Given the description of an element on the screen output the (x, y) to click on. 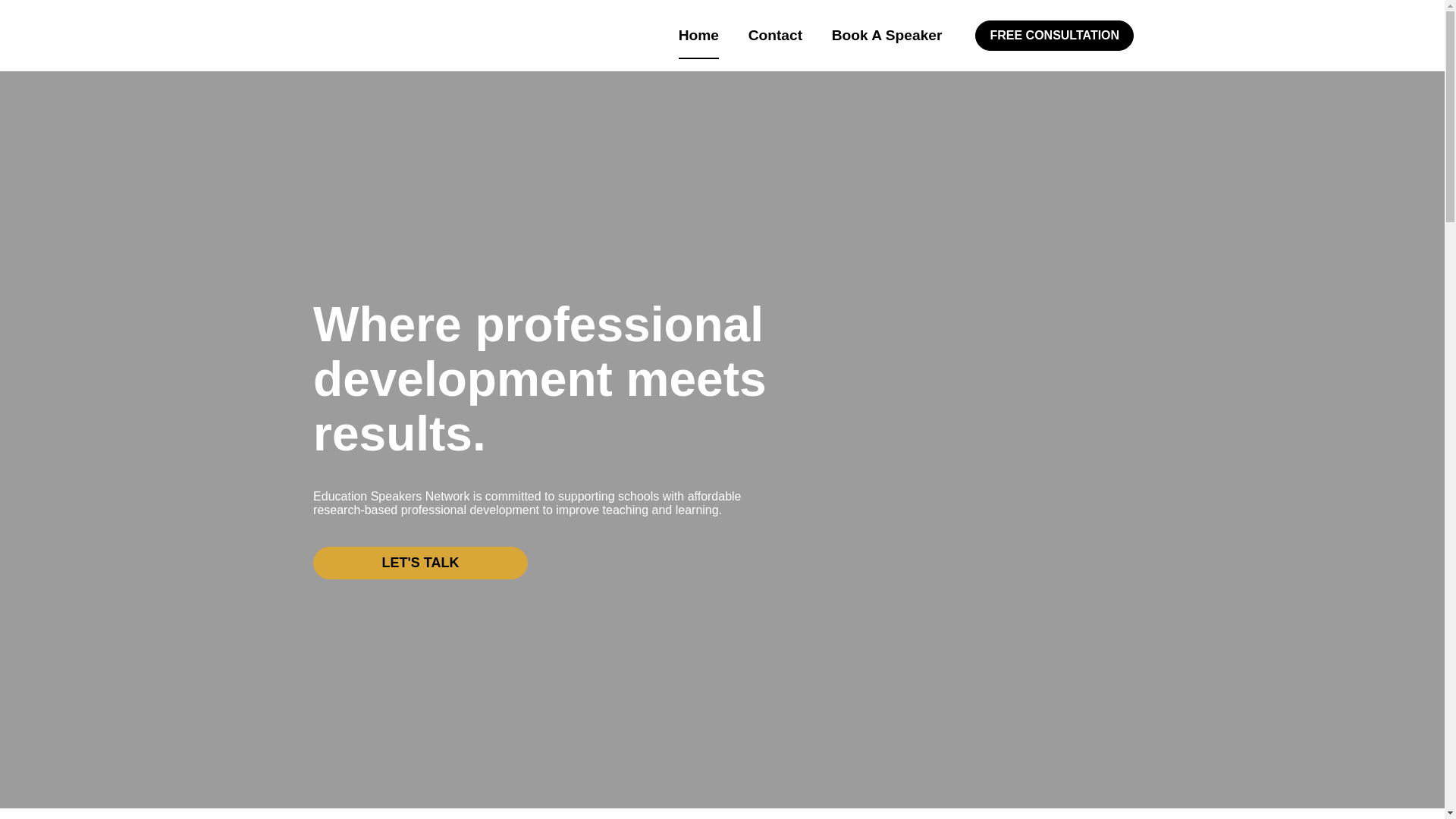
Contact (775, 35)
LET'S TALK (420, 563)
FREE CONSULTATION (1054, 35)
Book A Speaker (886, 35)
